Given the description of an element on the screen output the (x, y) to click on. 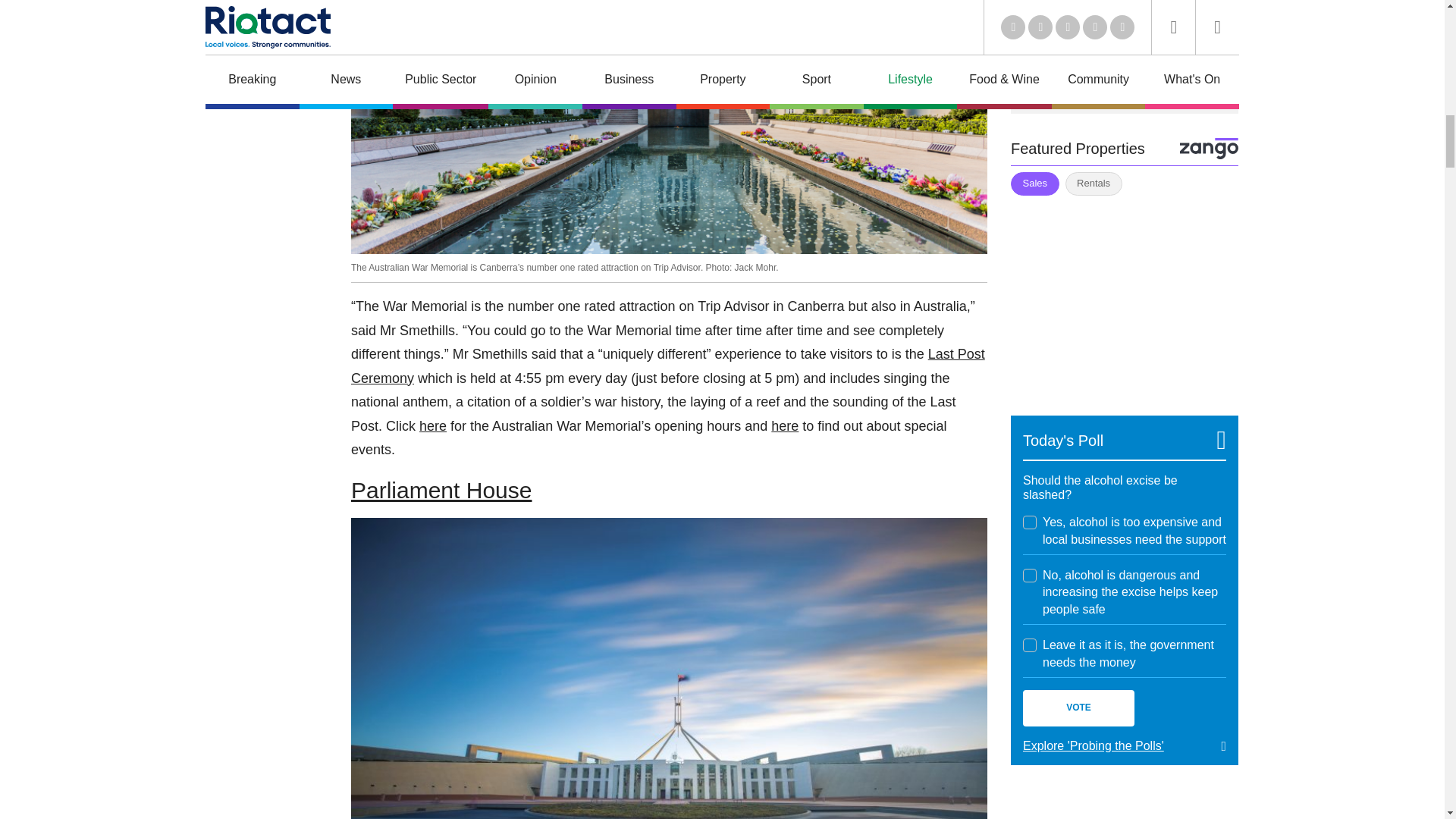
2048 (1029, 644)
Zango (1209, 148)
   Vote    (1078, 708)
2047 (1029, 575)
2046 (1029, 522)
Zango Sales (1124, 296)
